Given the description of an element on the screen output the (x, y) to click on. 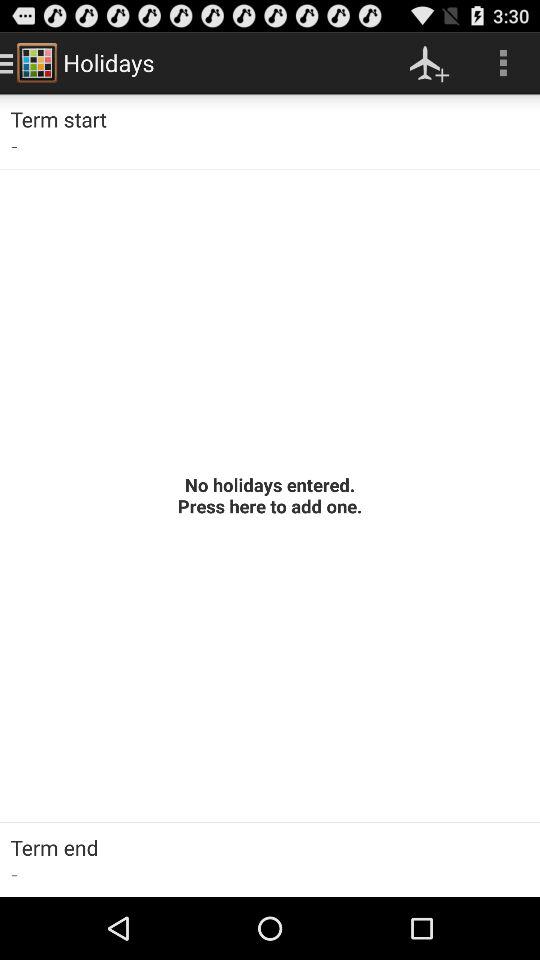
turn off the app above the no holidays entered item (503, 62)
